Given the description of an element on the screen output the (x, y) to click on. 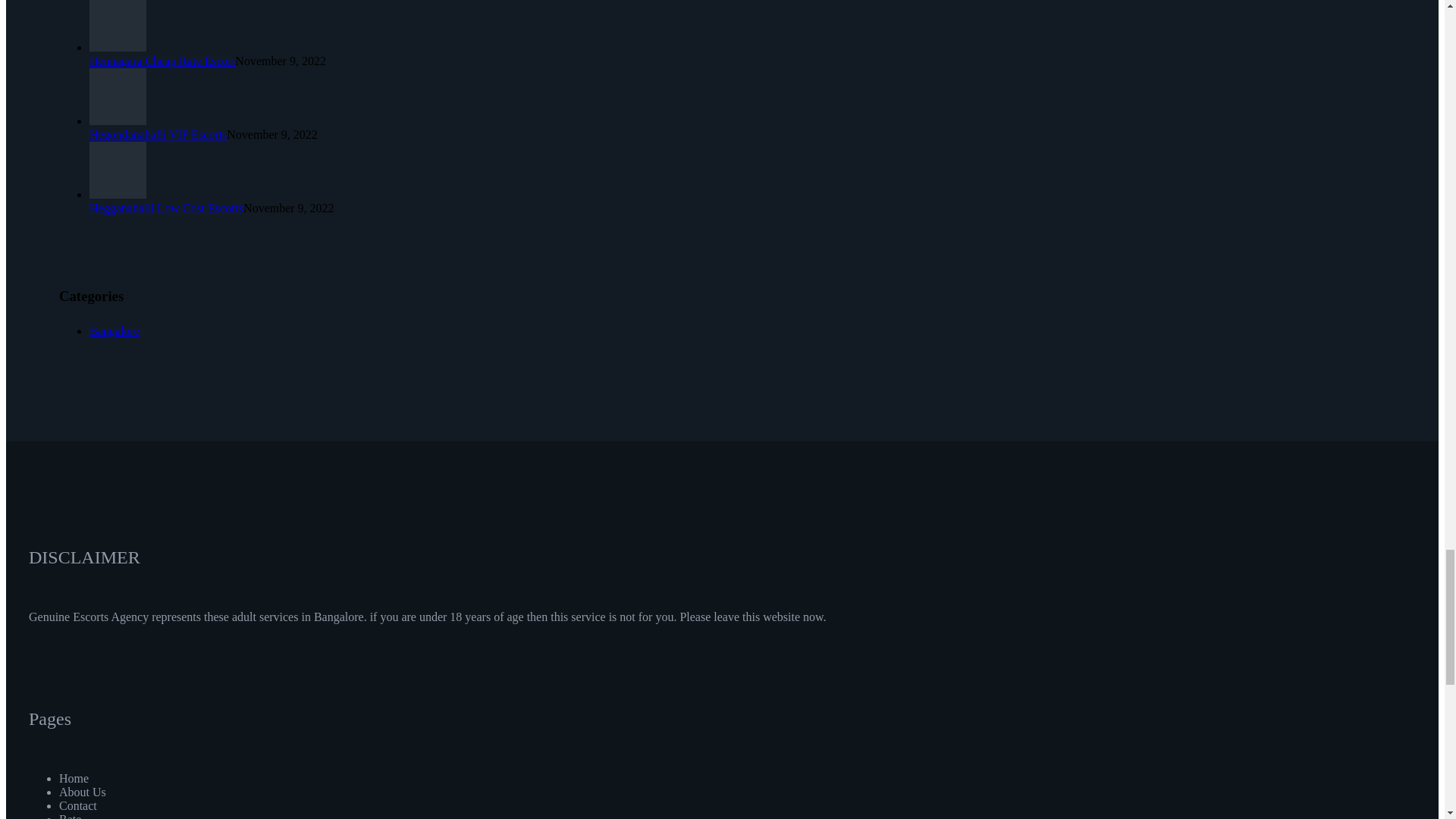
Bangalore (113, 330)
Hegondanahalli VIP Escorts (157, 133)
Hegganahalli Low Cost Escorts (165, 207)
Hennagara Cheap Rate Escort (161, 60)
